Given the description of an element on the screen output the (x, y) to click on. 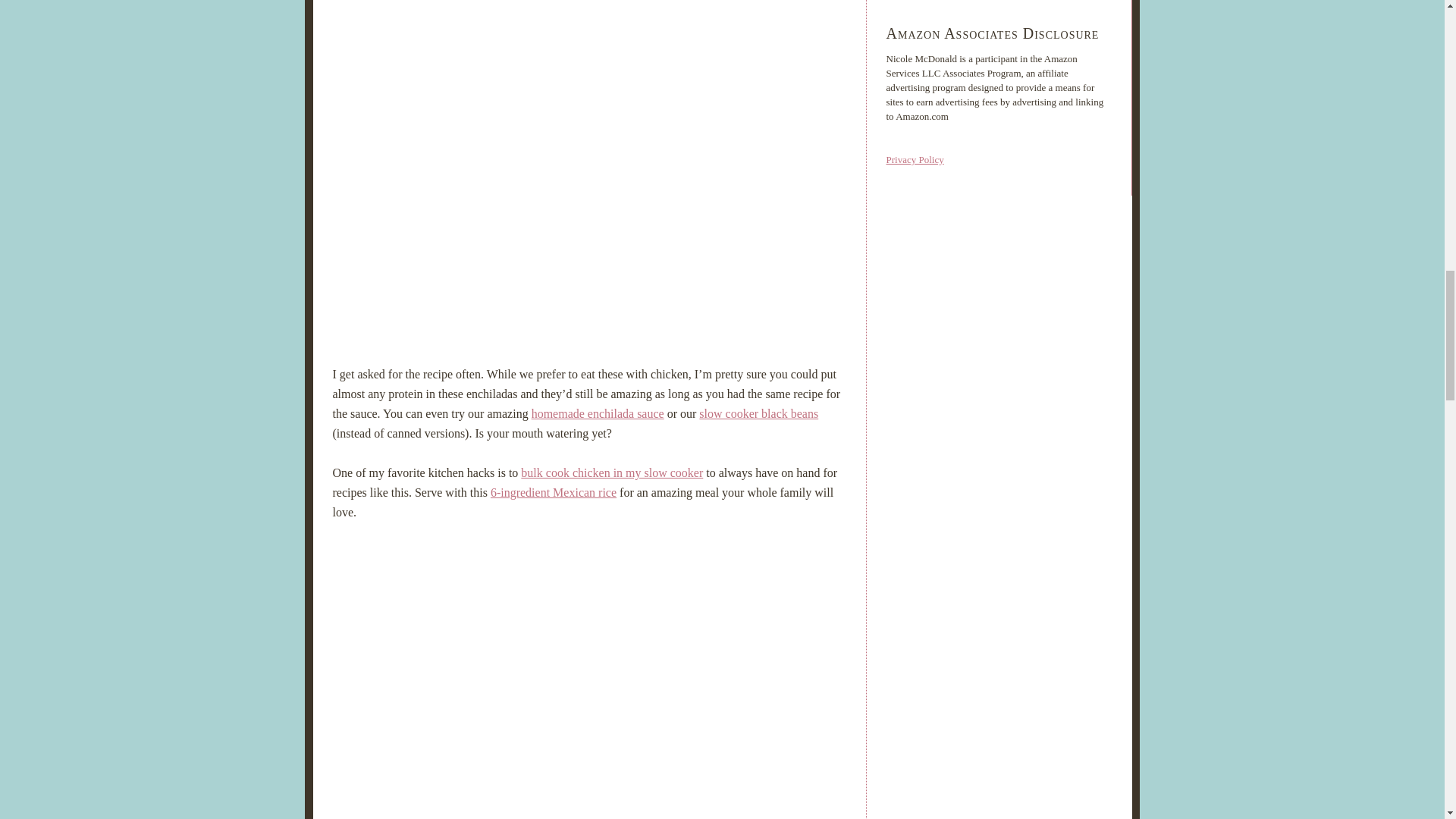
slow cooker black beans (758, 413)
6-ingredient Mexican rice (552, 492)
bulk cook chicken in my slow cooker (612, 472)
homemade enchilada sauce (597, 413)
